Given the description of an element on the screen output the (x, y) to click on. 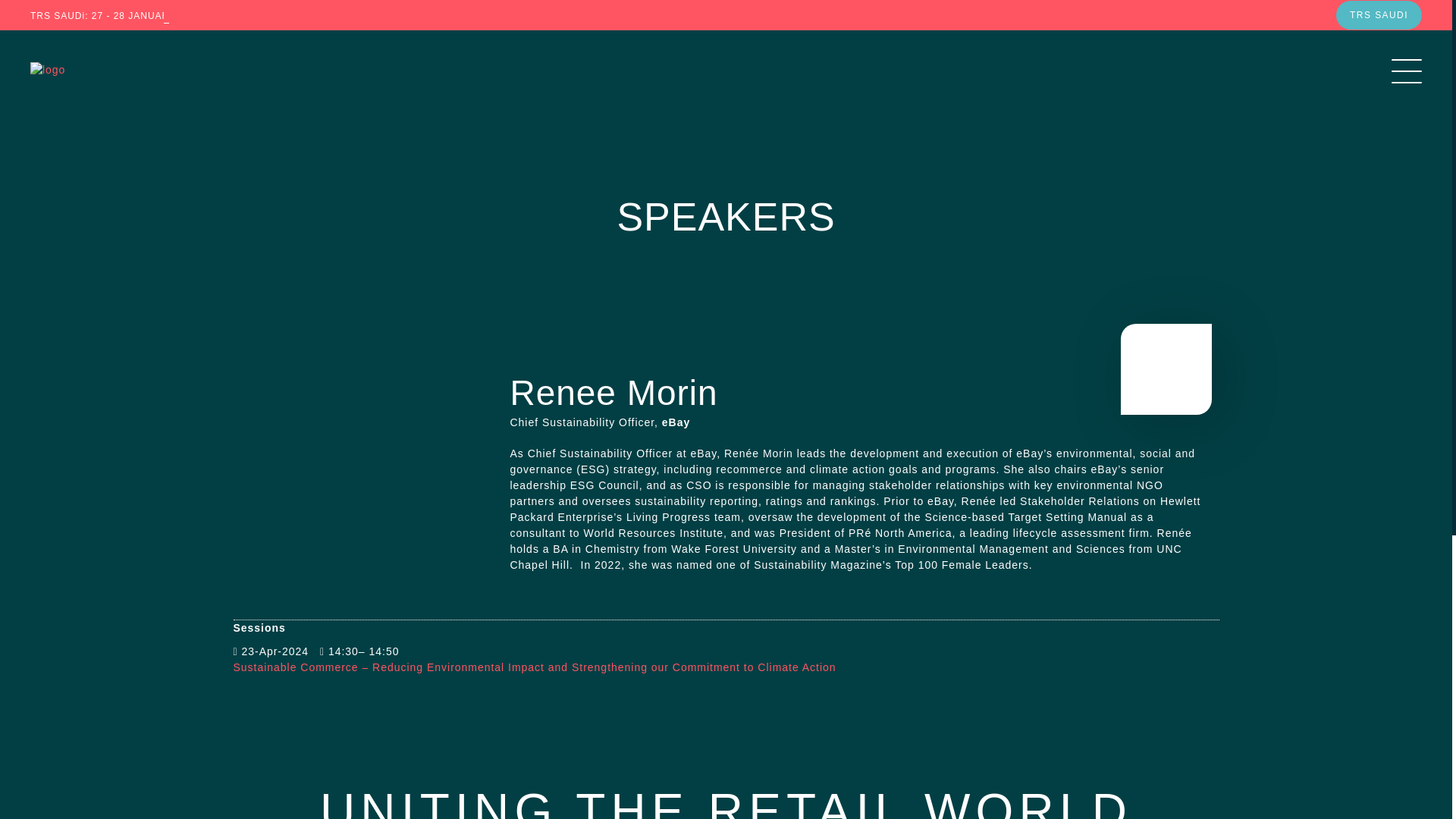
TRS SAUDi: 27 - 28 JANUARY 2025 (116, 15)
TRS SAUDI (1379, 14)
MENU (1403, 69)
homepage (100, 69)
